Given the description of an element on the screen output the (x, y) to click on. 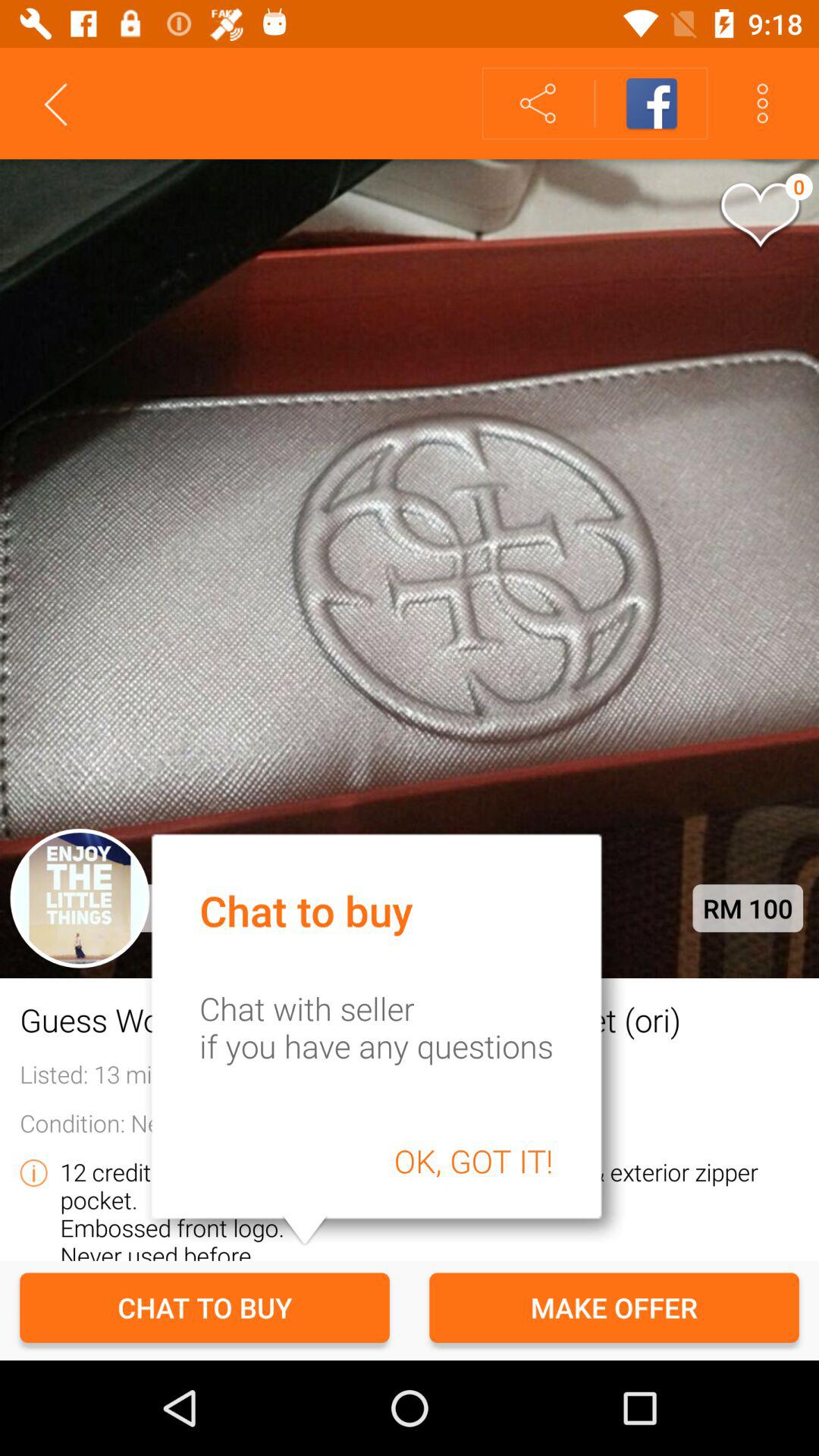
click on the icon which is on the image (759, 216)
select information icon in front of  numeric 12 (33, 1172)
